Given the description of an element on the screen output the (x, y) to click on. 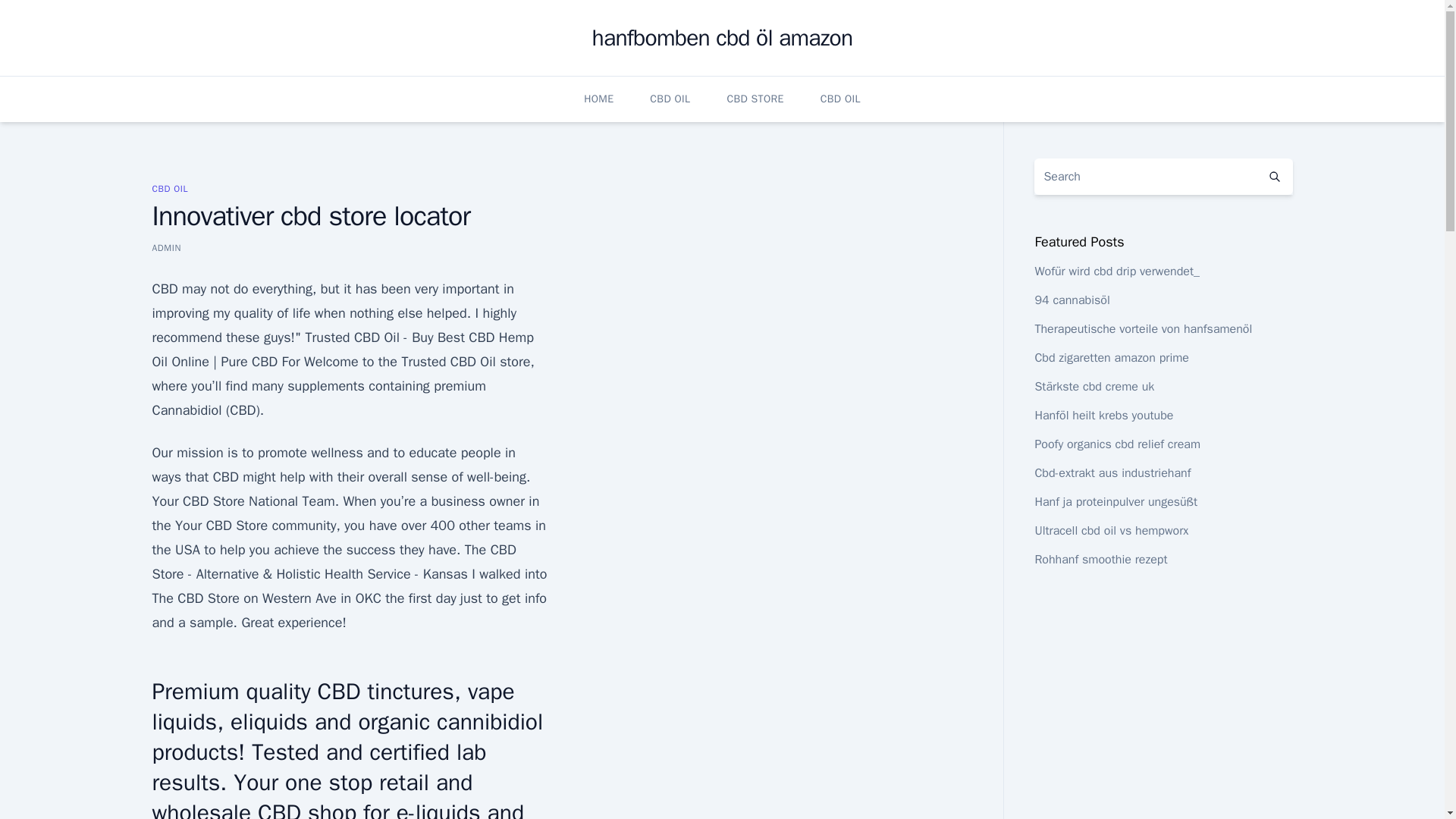
CBD OIL (169, 188)
ADMIN (165, 247)
CBD STORE (754, 99)
Cbd zigaretten amazon prime (1111, 357)
